Given the description of an element on the screen output the (x, y) to click on. 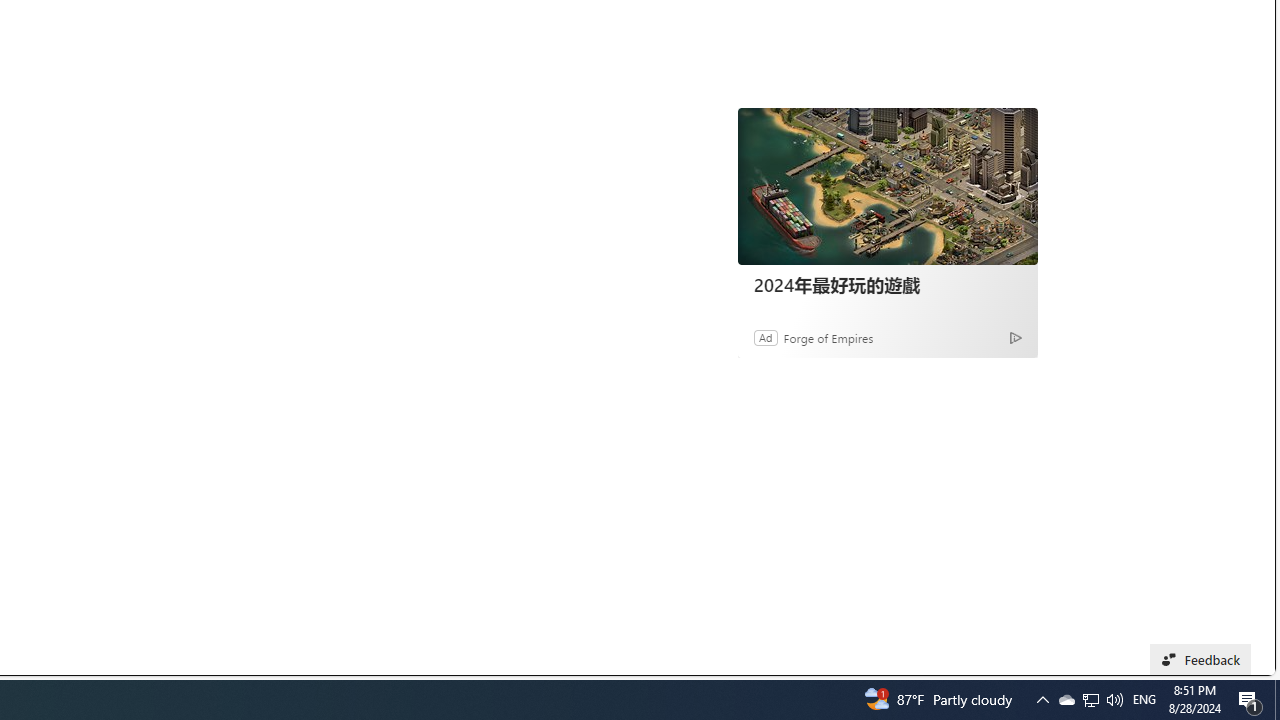
Forge of Empires (828, 337)
